Given the description of an element on the screen output the (x, y) to click on. 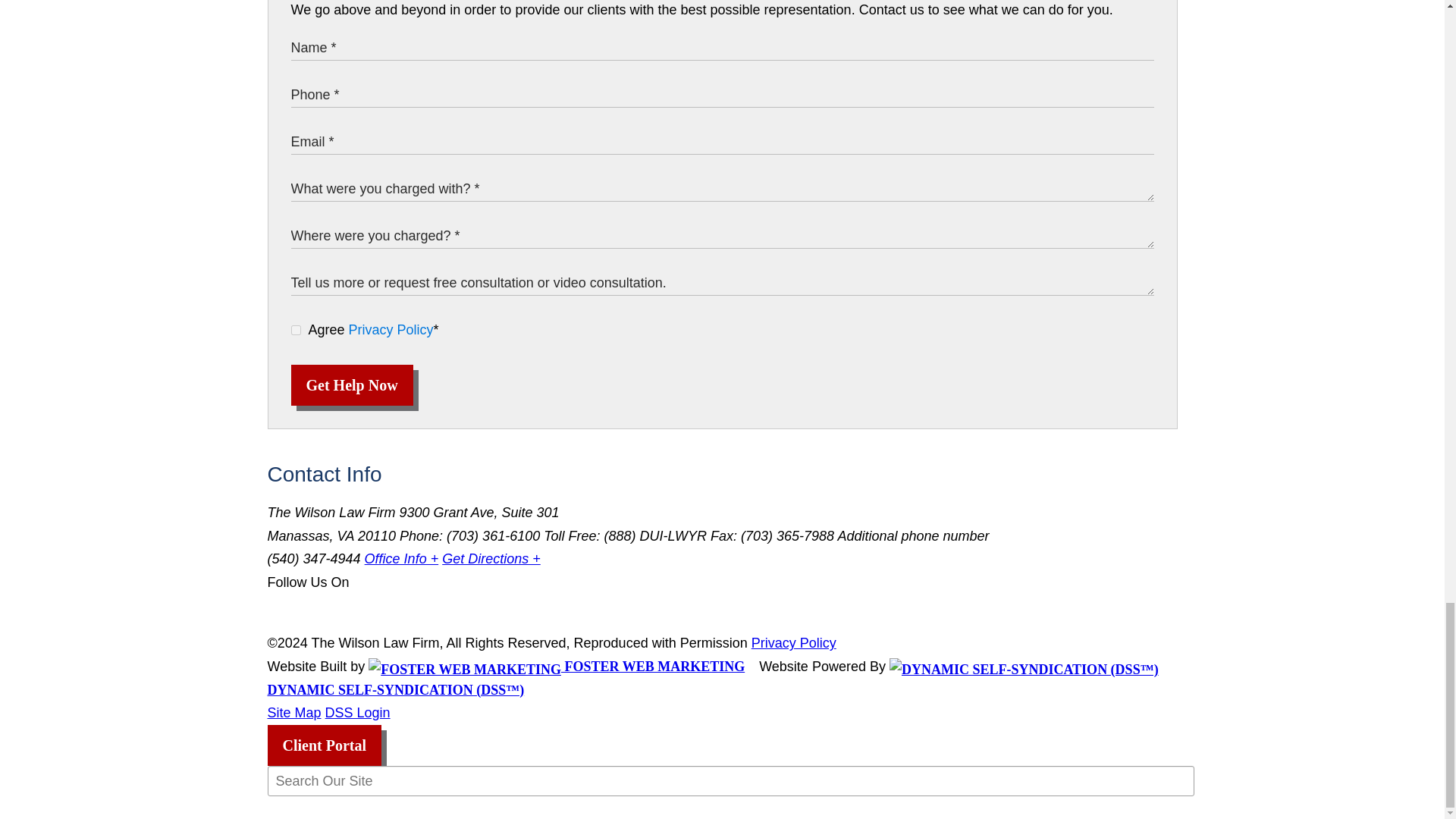
1 (296, 329)
